Given the description of an element on the screen output the (x, y) to click on. 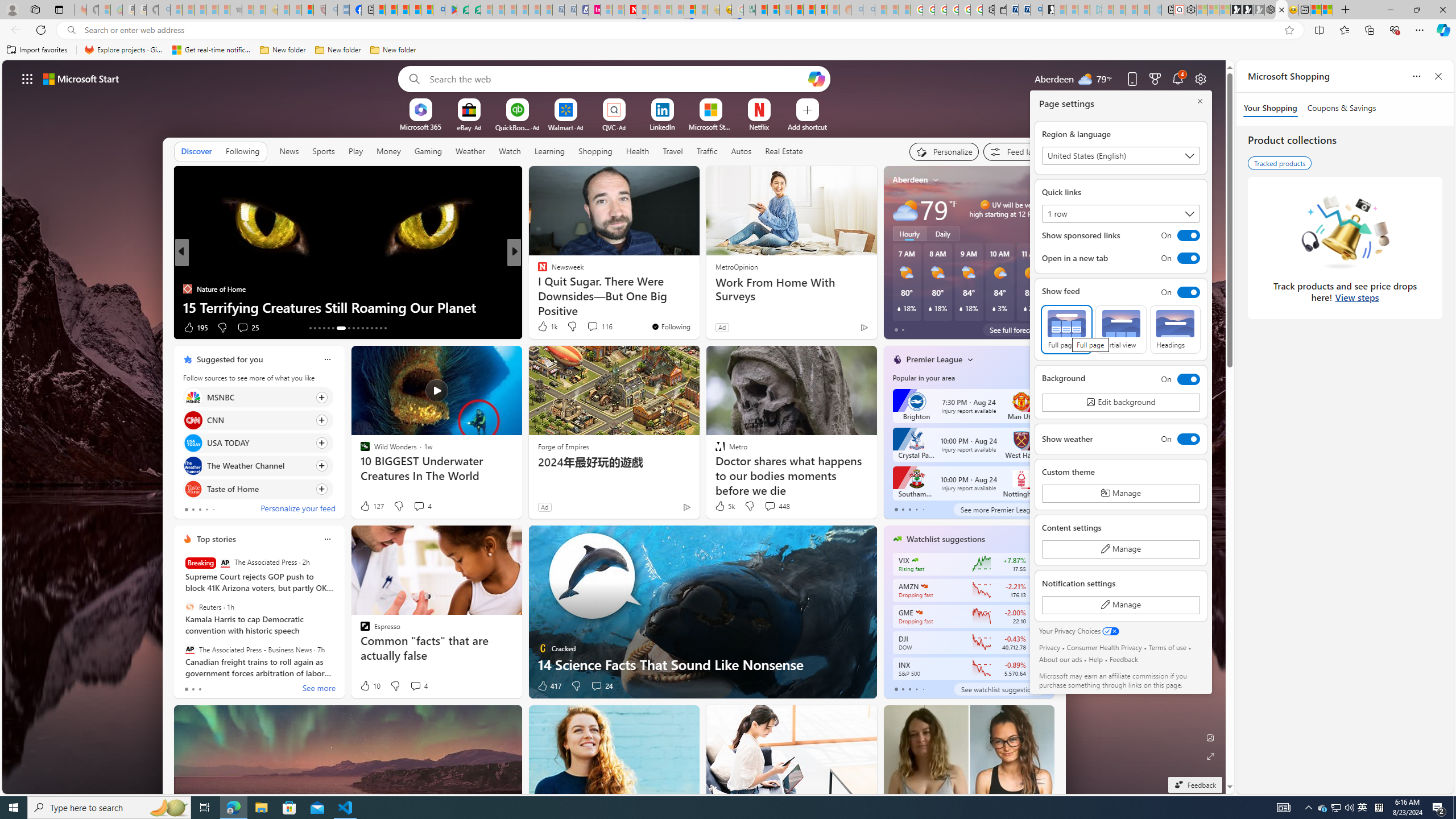
417 Like (548, 685)
Money (387, 151)
Weather (470, 151)
The Weather Channel - MSN - Sleeping (200, 9)
Netflix (758, 126)
I Lost Over 129 Pounds Eating These Delicious Foods (697, 307)
MetroOpinion (736, 266)
Help (1095, 658)
1k Like (546, 326)
